Given the description of an element on the screen output the (x, y) to click on. 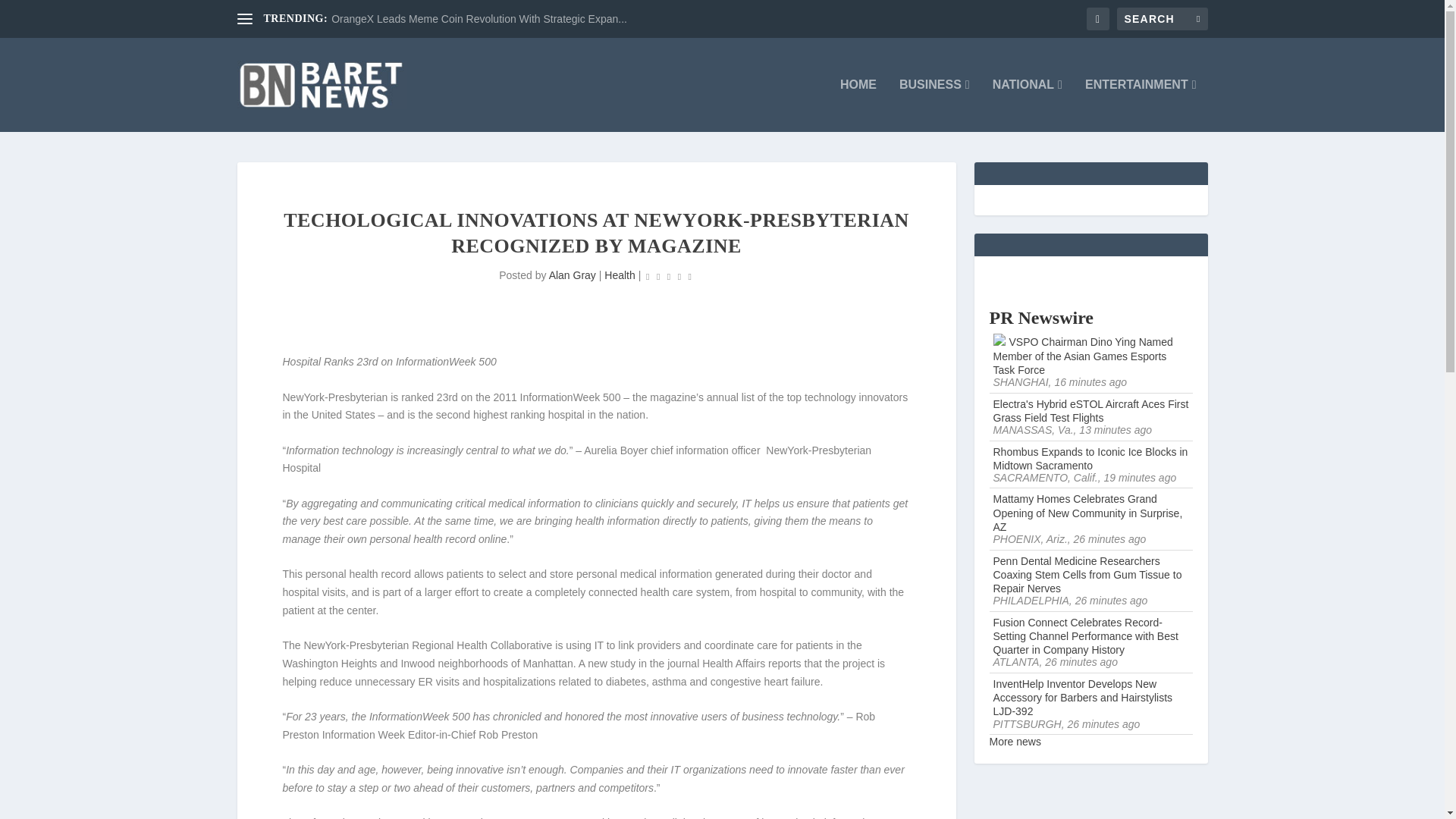
Rating: 0.00 (668, 275)
BUSINESS (934, 104)
HOME (858, 104)
OrangeX Leads Meme Coin Revolution With Strategic Expan... (479, 19)
NATIONAL (1027, 104)
Posts by Alan Gray (571, 275)
Search for: (1161, 18)
ENTERTAINMENT (1140, 104)
